Given the description of an element on the screen output the (x, y) to click on. 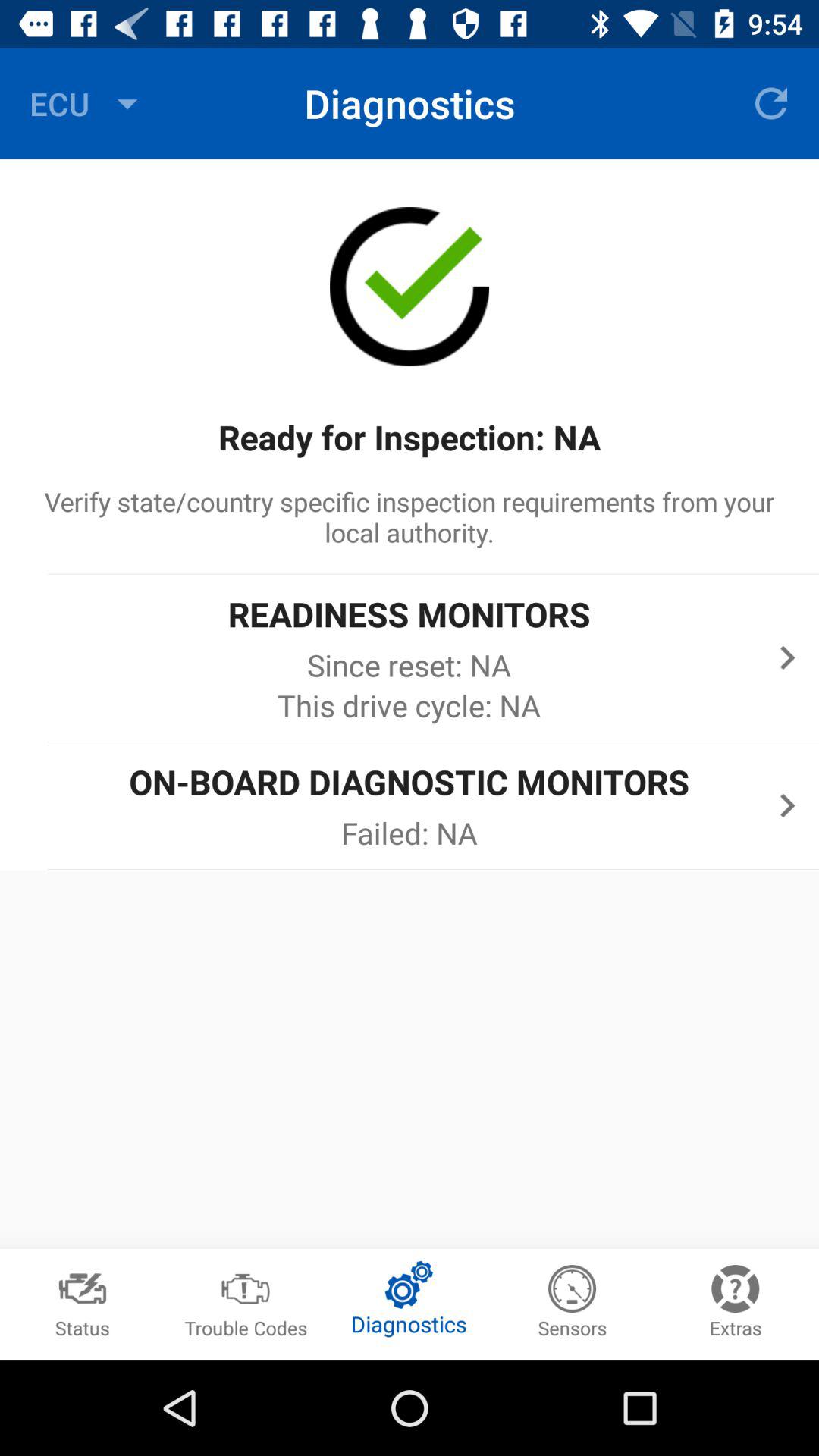
tap icon to the left of diagnostics (87, 103)
